Given the description of an element on the screen output the (x, y) to click on. 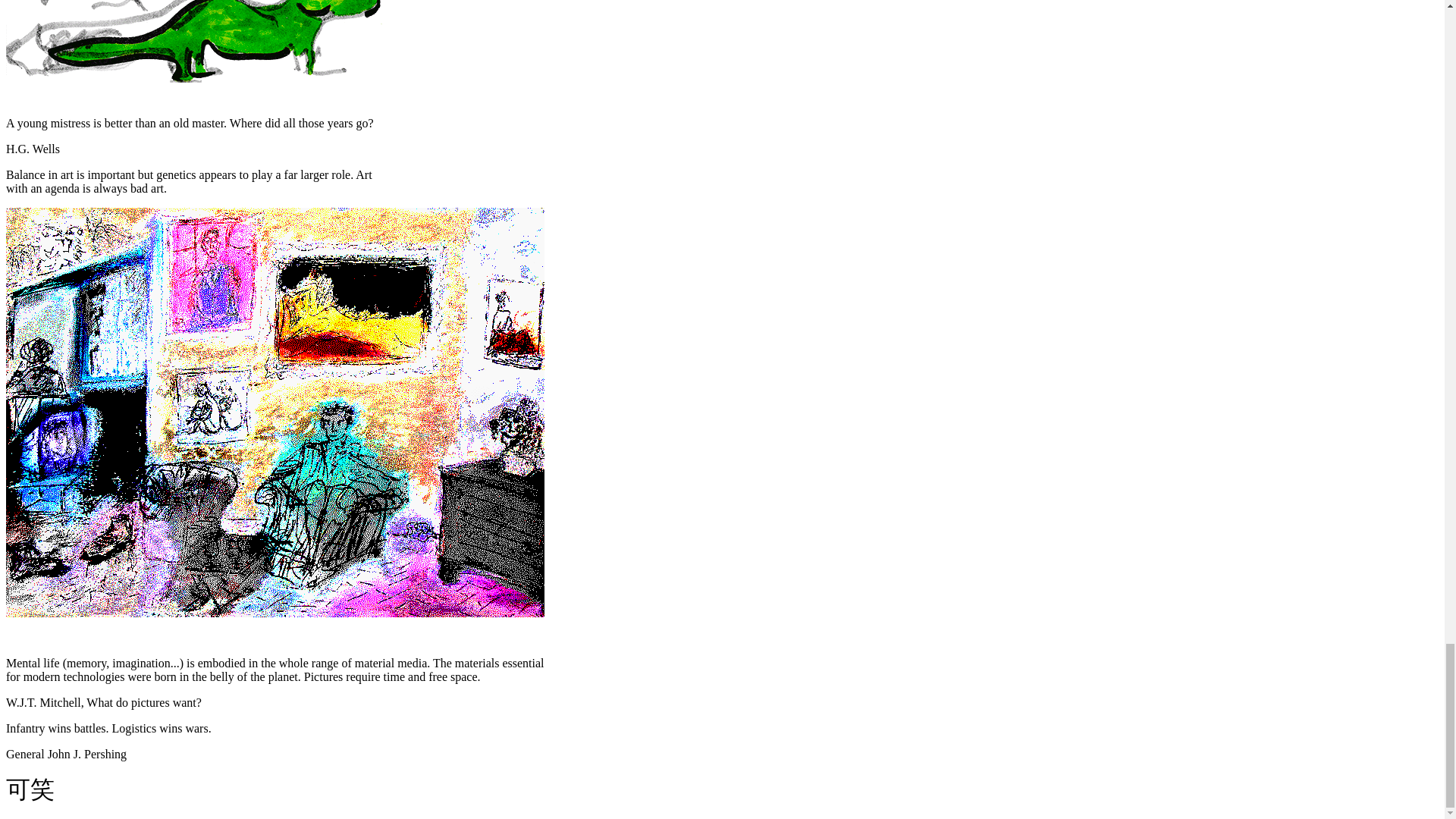
Lizard brain makes good art (199, 42)
